Given the description of an element on the screen output the (x, y) to click on. 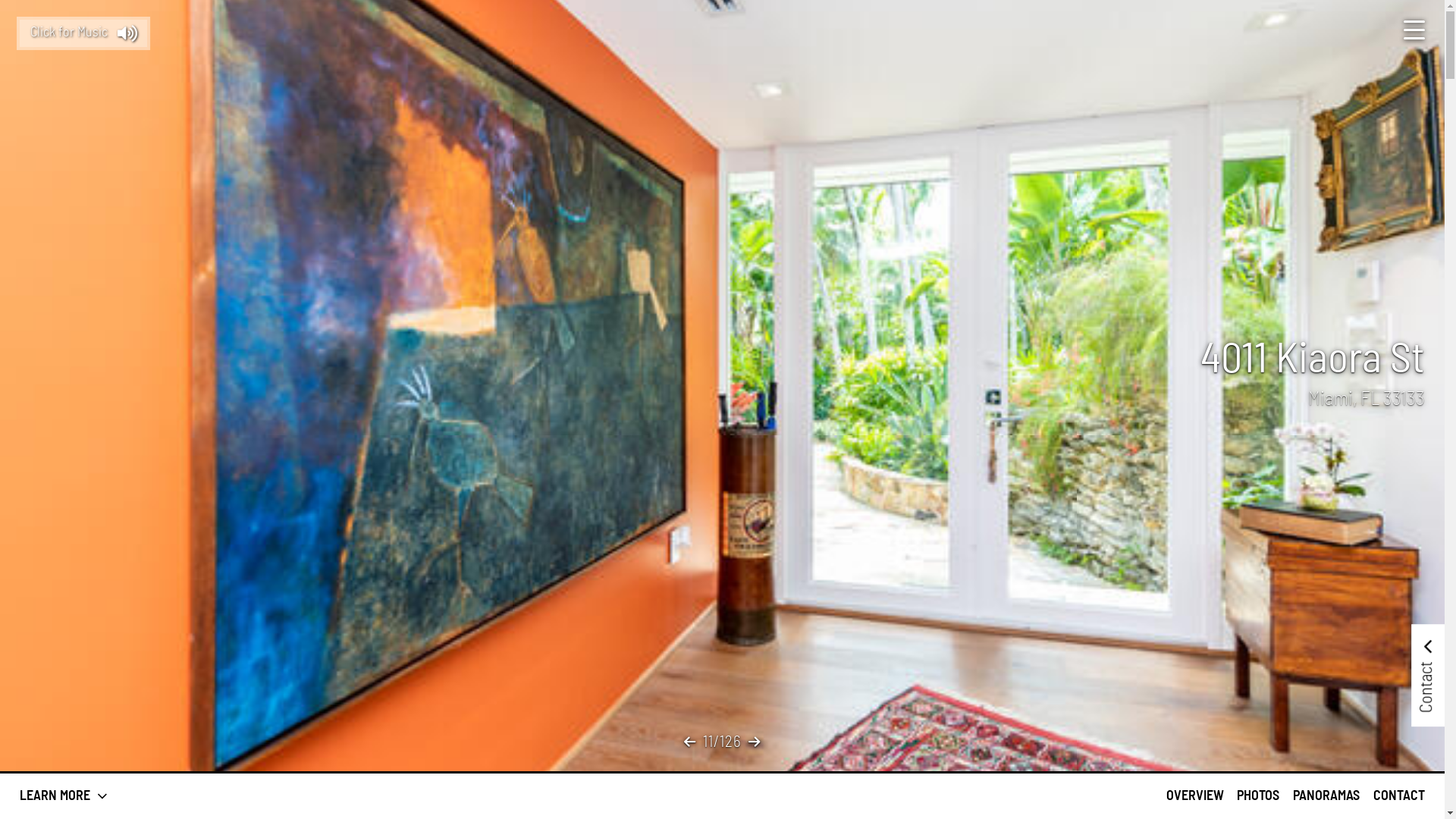
CONTACT Element type: text (1398, 796)
OVERVIEW Element type: text (1194, 796)
PHOTOS Element type: text (1257, 796)
PANORAMAS Element type: text (1325, 796)
